Given the description of an element on the screen output the (x, y) to click on. 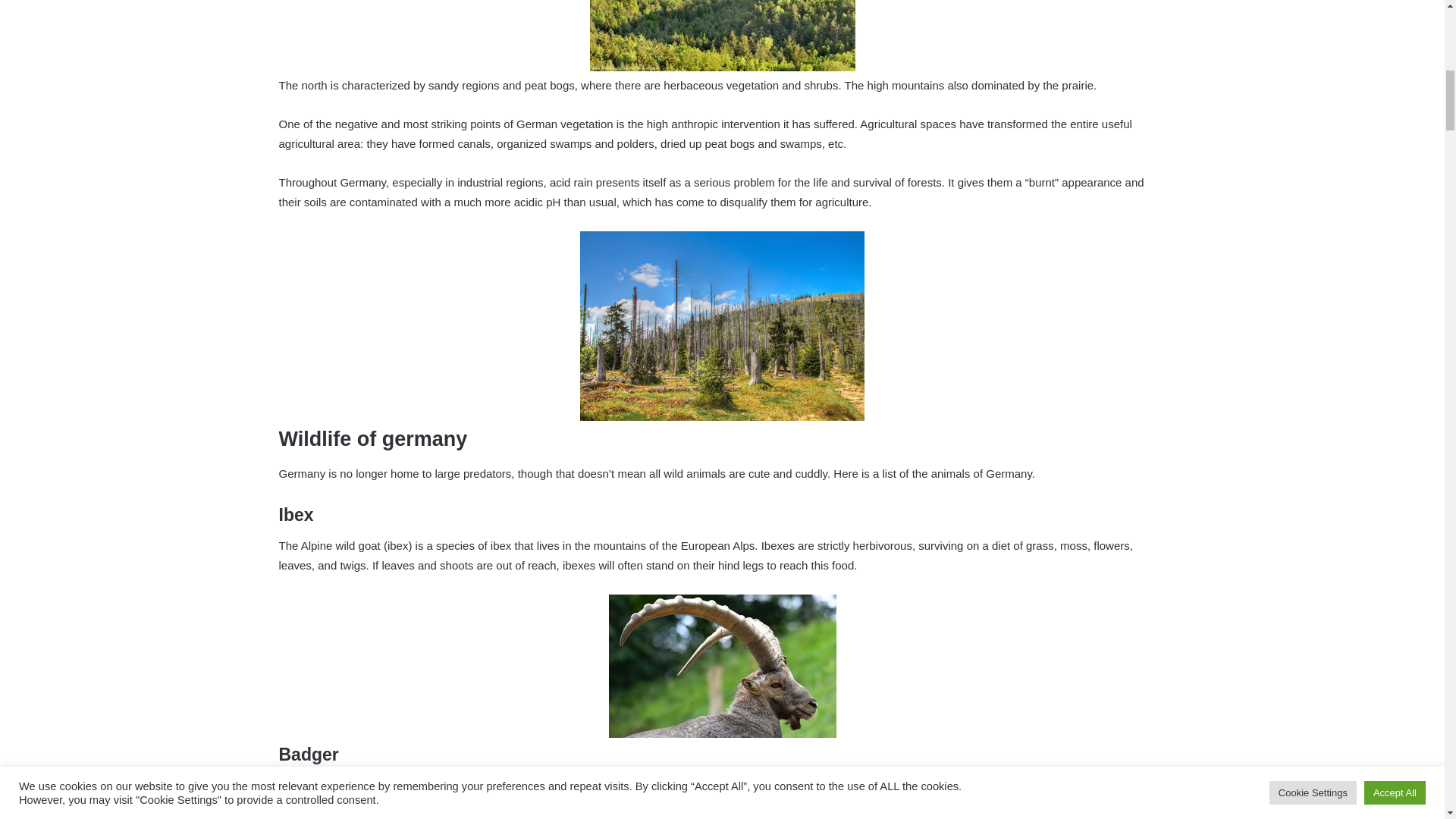
ibice wild goat alps (721, 665)
flora germany forest (722, 35)
badger (722, 816)
acid rain germany forest (721, 325)
